Given the description of an element on the screen output the (x, y) to click on. 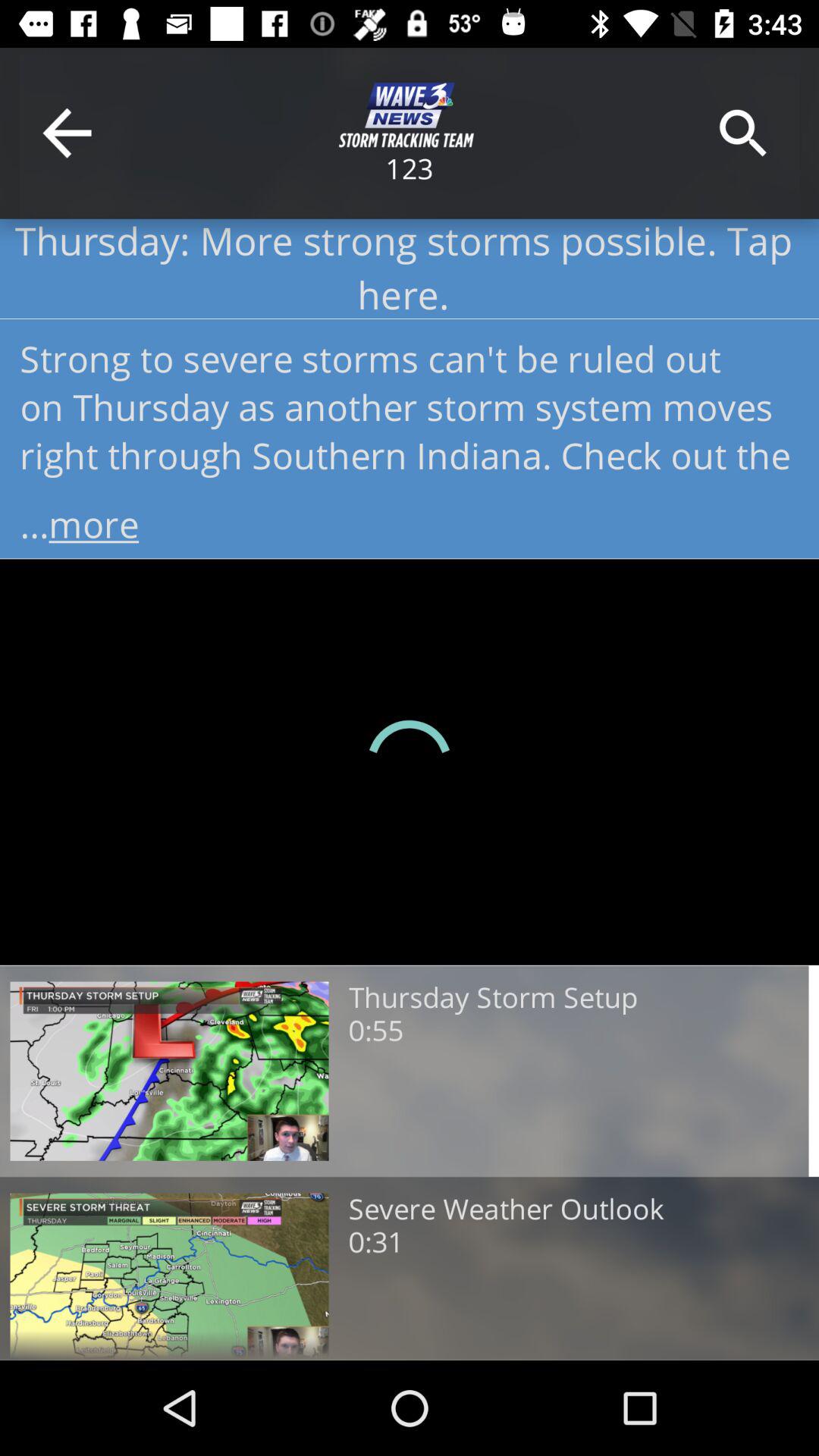
scroll until the ...more icon (409, 518)
